Given the description of an element on the screen output the (x, y) to click on. 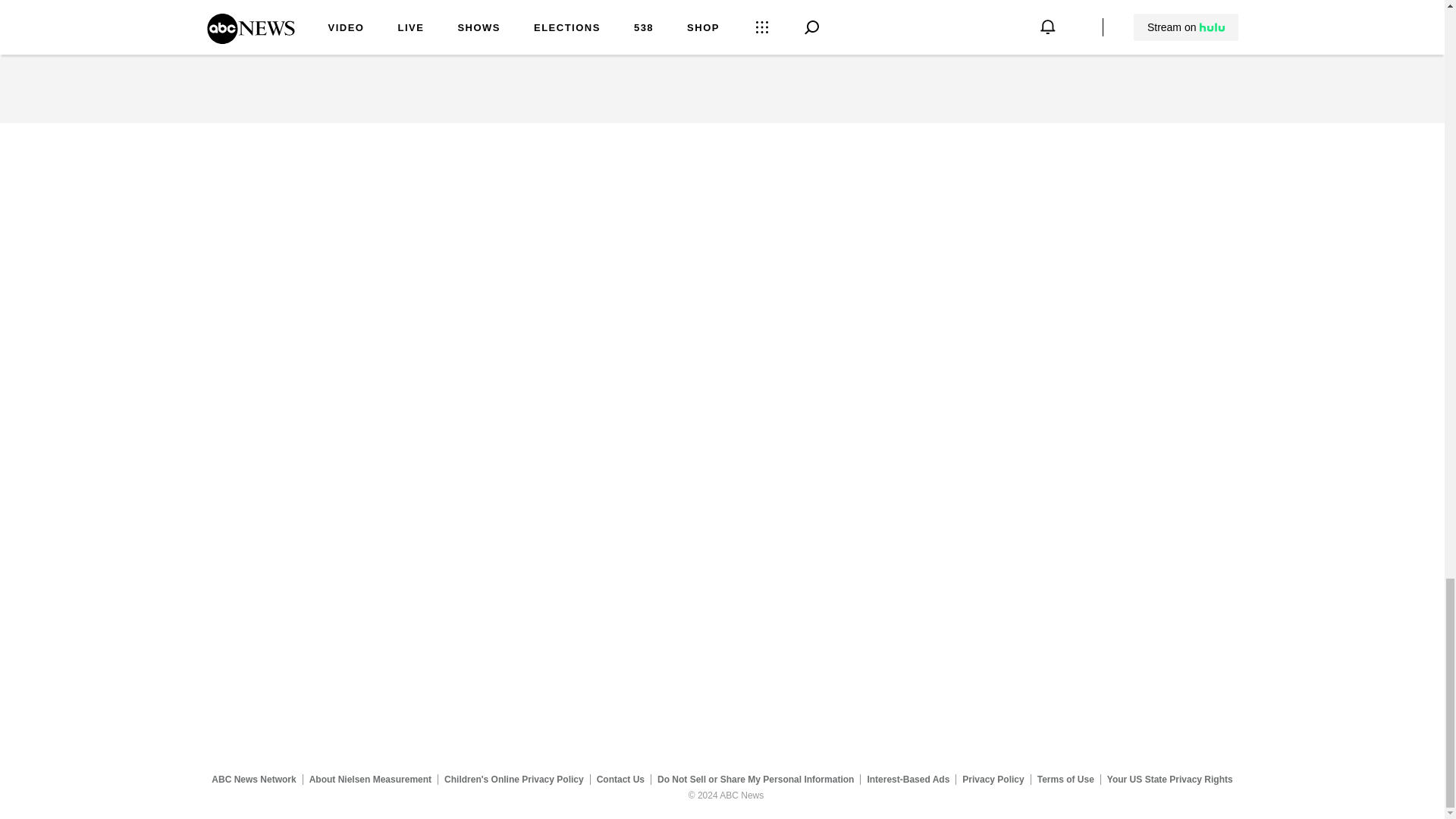
Children's Online Privacy Policy (514, 778)
ABC News Network (253, 778)
About Nielsen Measurement (370, 778)
Your US State Privacy Rights (1169, 778)
Privacy Policy (993, 778)
Interest-Based Ads (908, 778)
Do Not Sell or Share My Personal Information (755, 778)
Contact Us (620, 778)
Terms of Use (1065, 778)
